Given the description of an element on the screen output the (x, y) to click on. 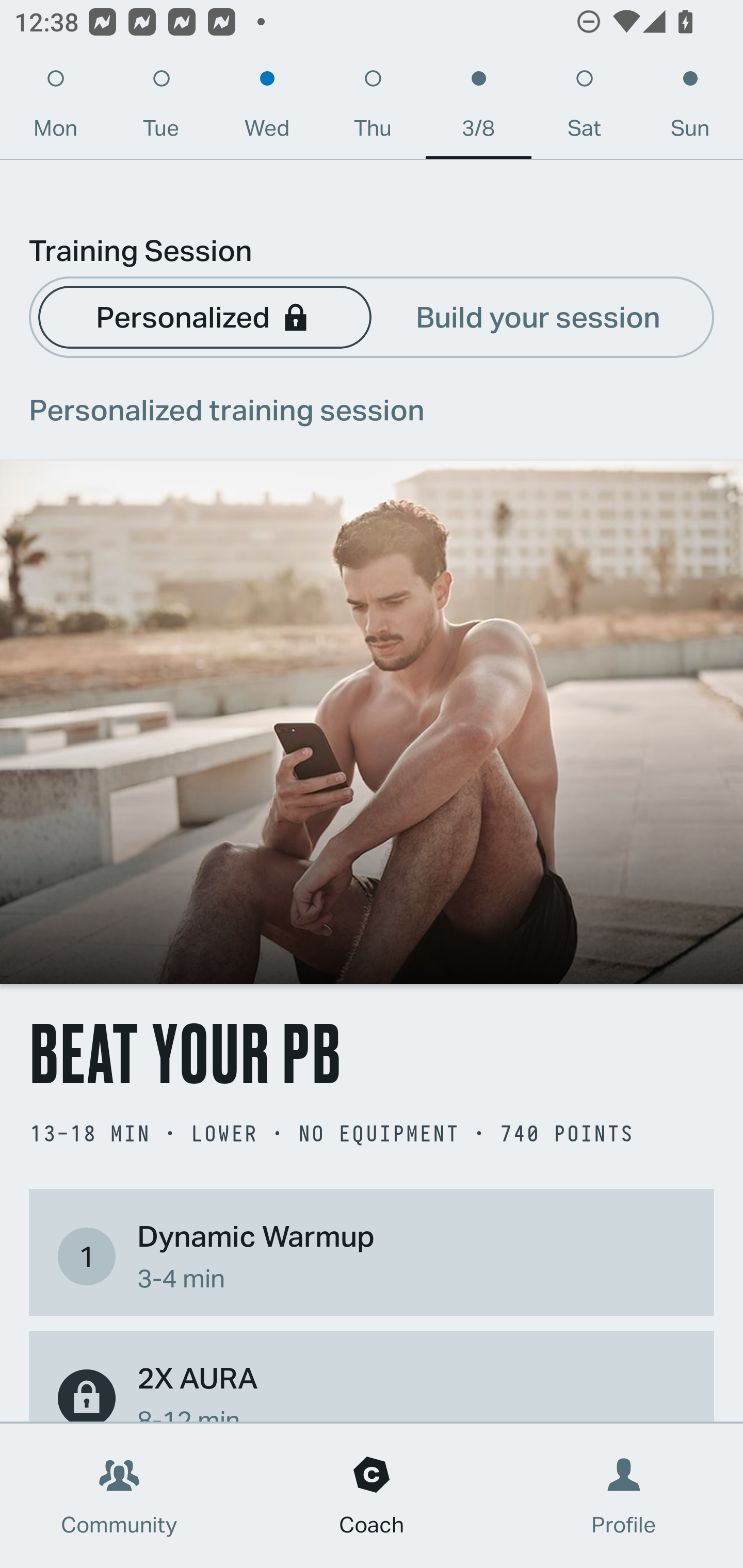
Mon (55, 108)
Tue (160, 108)
Wed (266, 108)
Thu (372, 108)
3/8 (478, 108)
Sat (584, 108)
Sun (690, 108)
Personalized (204, 315)
Build your session (538, 315)
1 Dynamic Warmup 3-4 min (371, 1256)
2X AURA 8-12 min (371, 1388)
Community (119, 1495)
Profile (624, 1495)
